Given the description of an element on the screen output the (x, y) to click on. 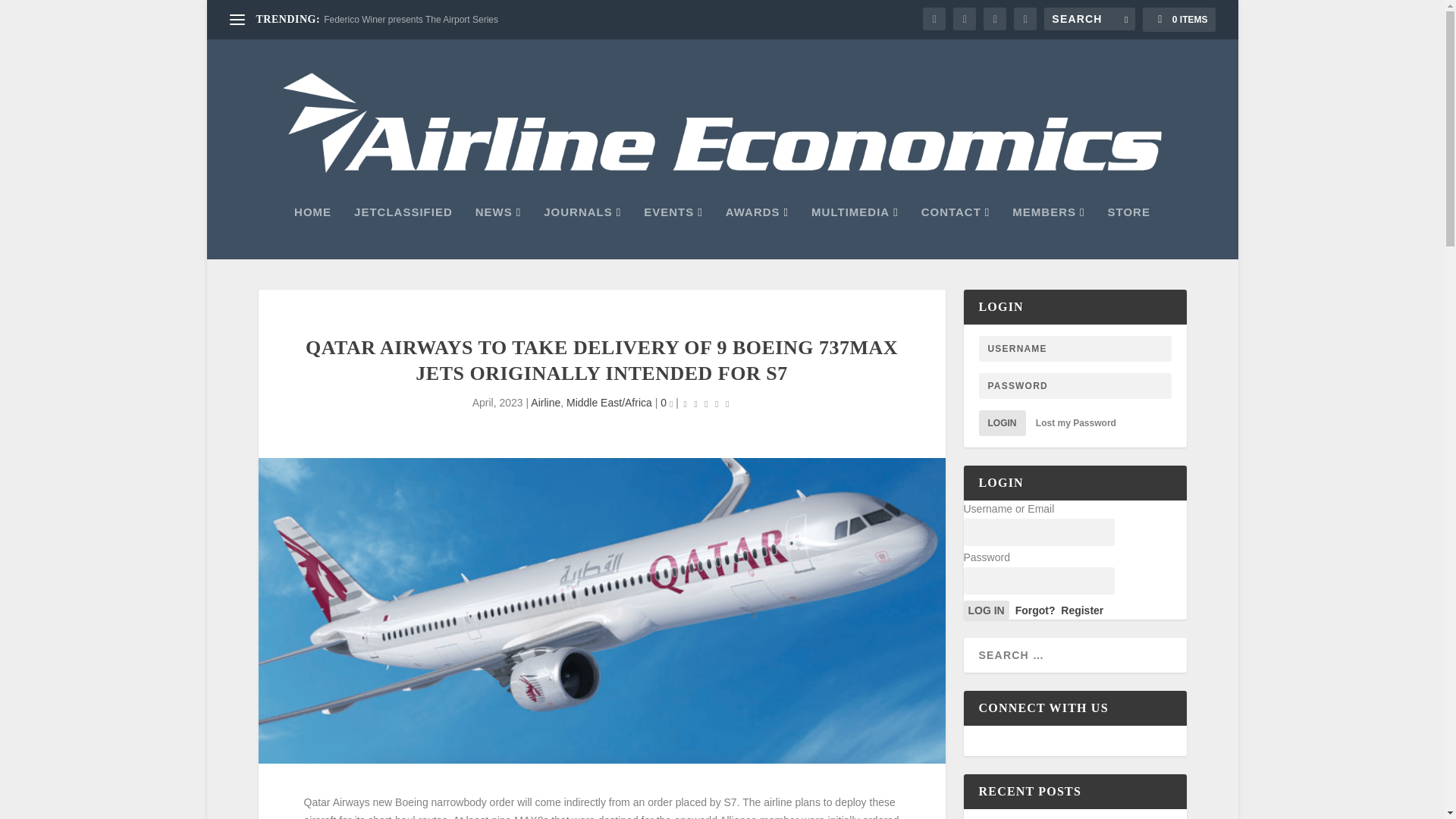
log in (985, 609)
JETCLASSIFIED (402, 232)
JOURNALS (582, 232)
Federico Winer presents The Airport Series (410, 19)
Rating: 0.00 (706, 403)
